Given the description of an element on the screen output the (x, y) to click on. 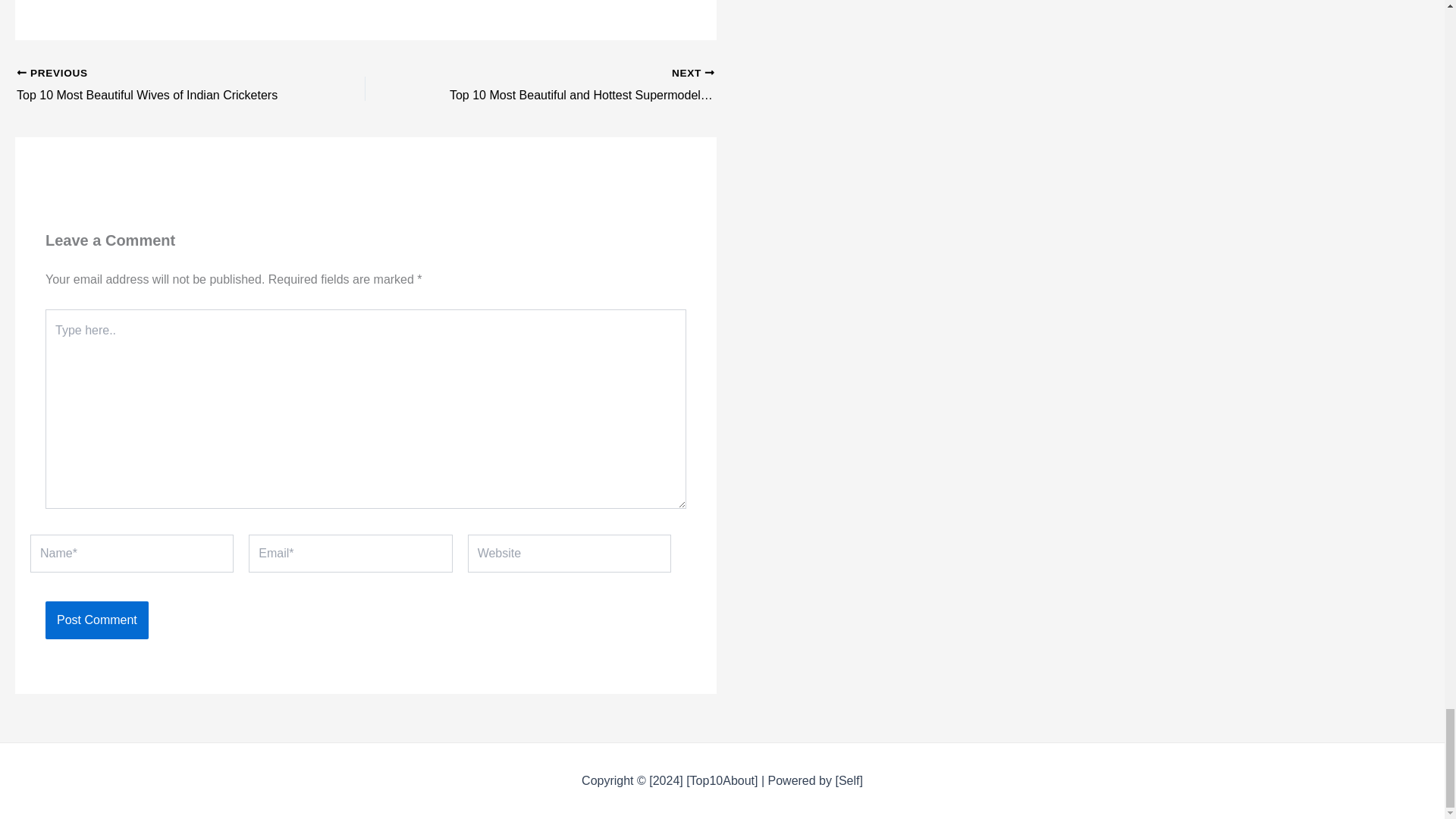
Top 10 Most Beautiful Wives of Indian Cricketers (156, 85)
Post Comment (96, 620)
Top 10 Most Beautiful and Hottest Supermodels in the World (573, 85)
